Given the description of an element on the screen output the (x, y) to click on. 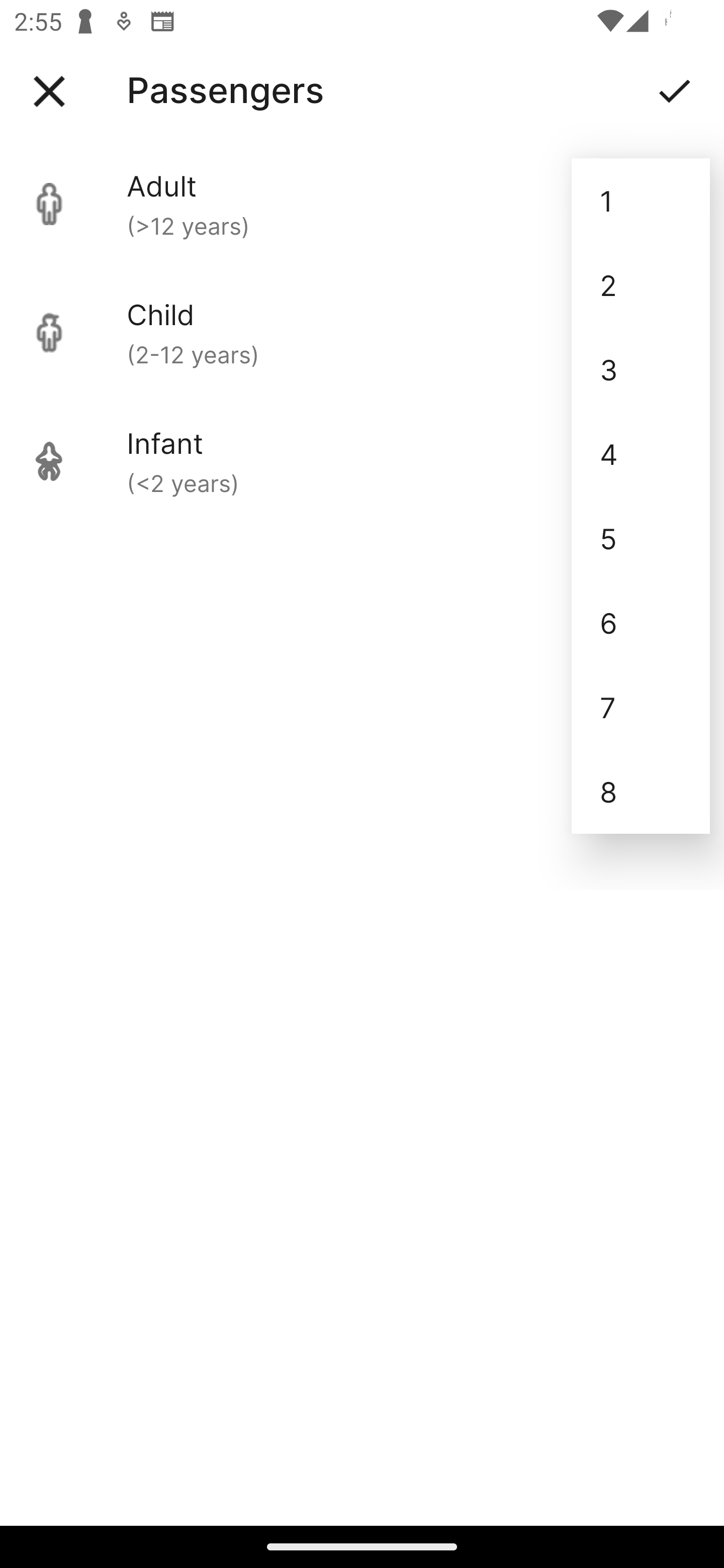
1 (640, 200)
2 (640, 285)
3 (640, 368)
4 (640, 452)
5 (640, 537)
6 (640, 622)
7 (640, 706)
8 (640, 791)
